Given the description of an element on the screen output the (x, y) to click on. 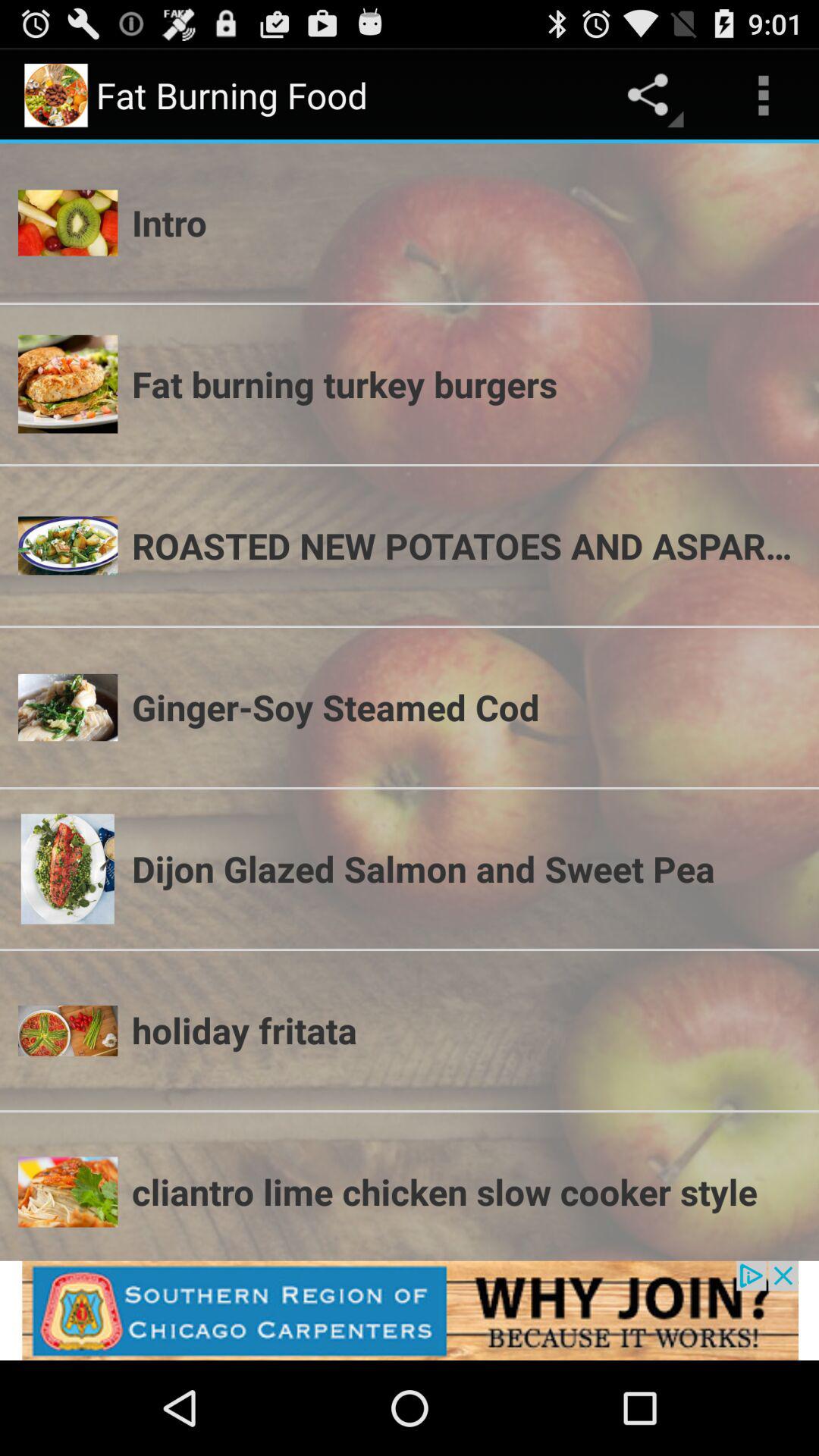
fat burning food (409, 1310)
